Given the description of an element on the screen output the (x, y) to click on. 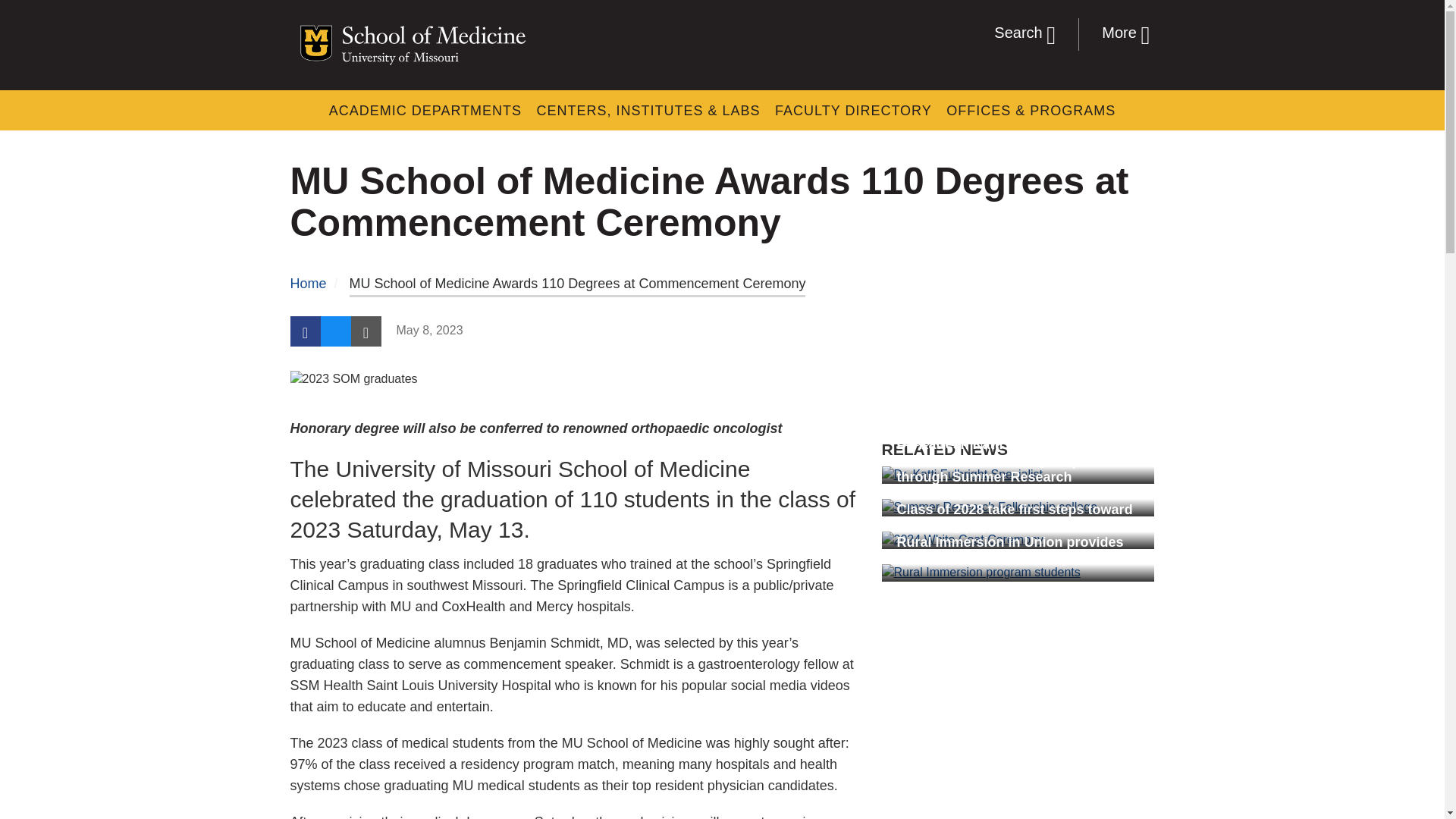
FACULTY DIRECTORY (852, 111)
ACADEMIC DEPARTMENTS (425, 111)
More (1116, 34)
Search (1034, 34)
Home (307, 283)
